Given the description of an element on the screen output the (x, y) to click on. 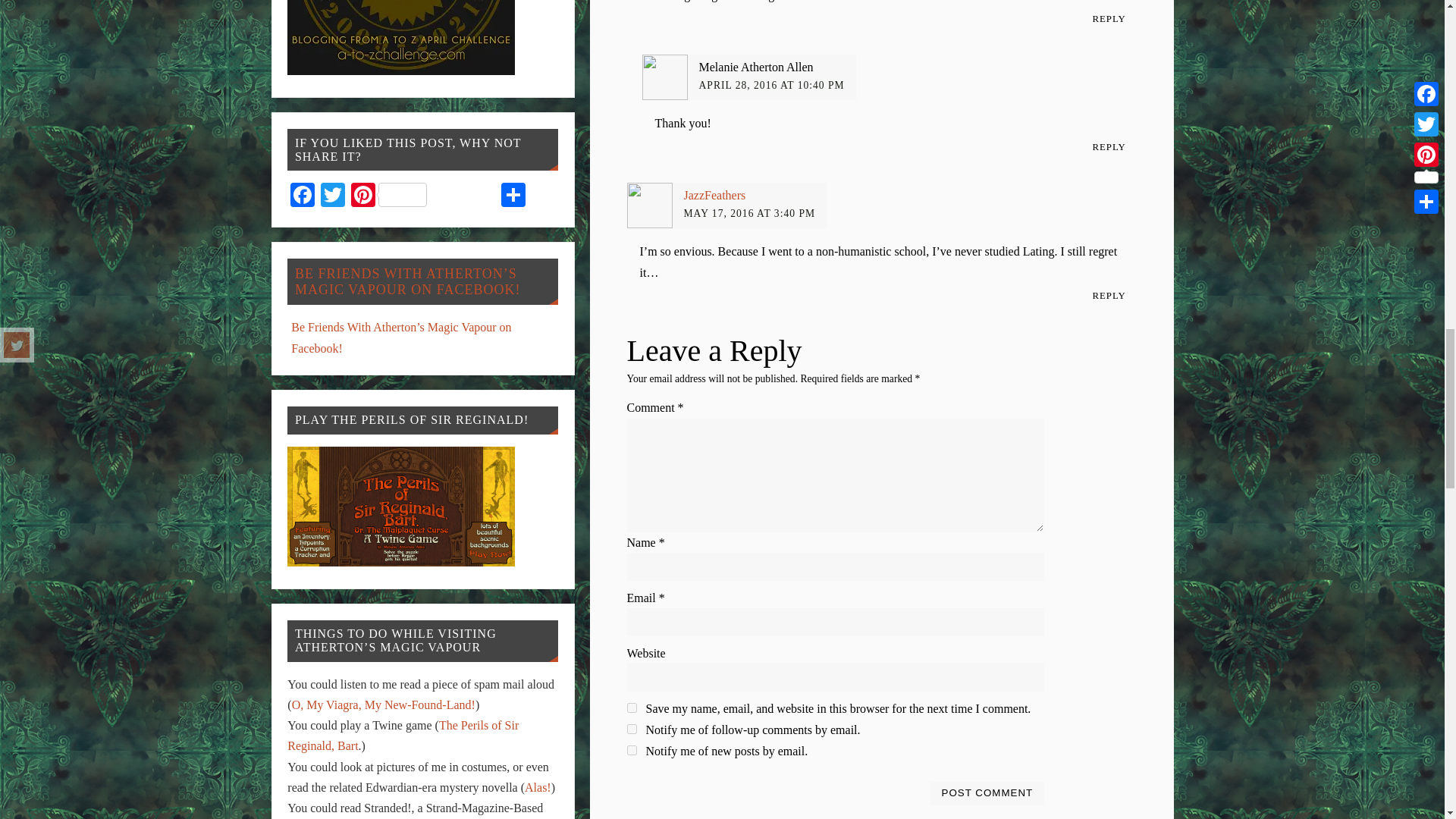
MAY 17, 2016 AT 3:40 PM (749, 213)
JazzFeathers (714, 195)
yes (631, 707)
O My Viagra, My New-Found-Land! (384, 704)
Twitter (332, 196)
APRIL 28, 2016 AT 10:40 PM (771, 84)
subscribe (631, 750)
REPLY (1109, 296)
Post Comment (986, 792)
REPLY (1109, 19)
The Perils of Sir Reginald, Bart: A Twine Game (402, 735)
REPLY (1109, 147)
Pinterest (388, 196)
subscribe (631, 728)
Facebook (301, 196)
